Given the description of an element on the screen output the (x, y) to click on. 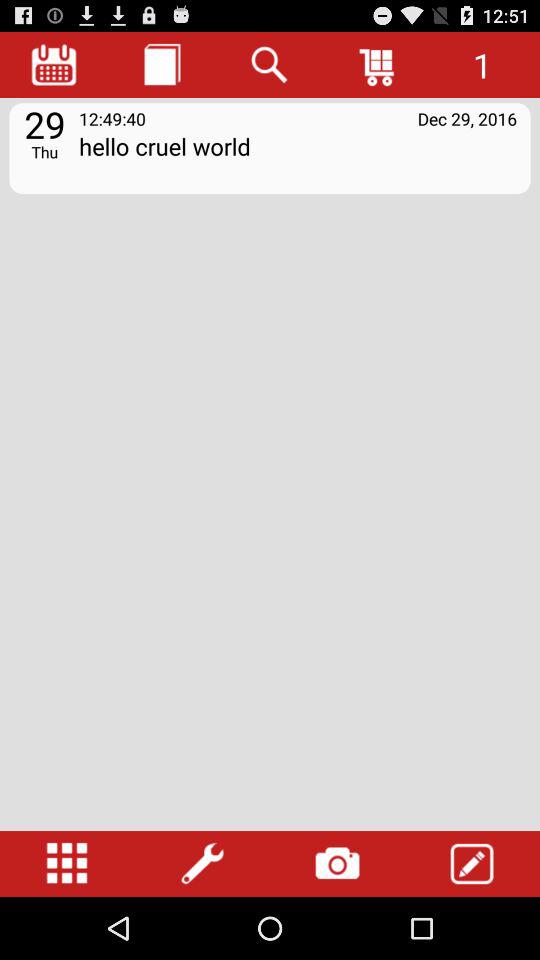
turn on item to the right of the 12:49:40 item (467, 118)
